Given the description of an element on the screen output the (x, y) to click on. 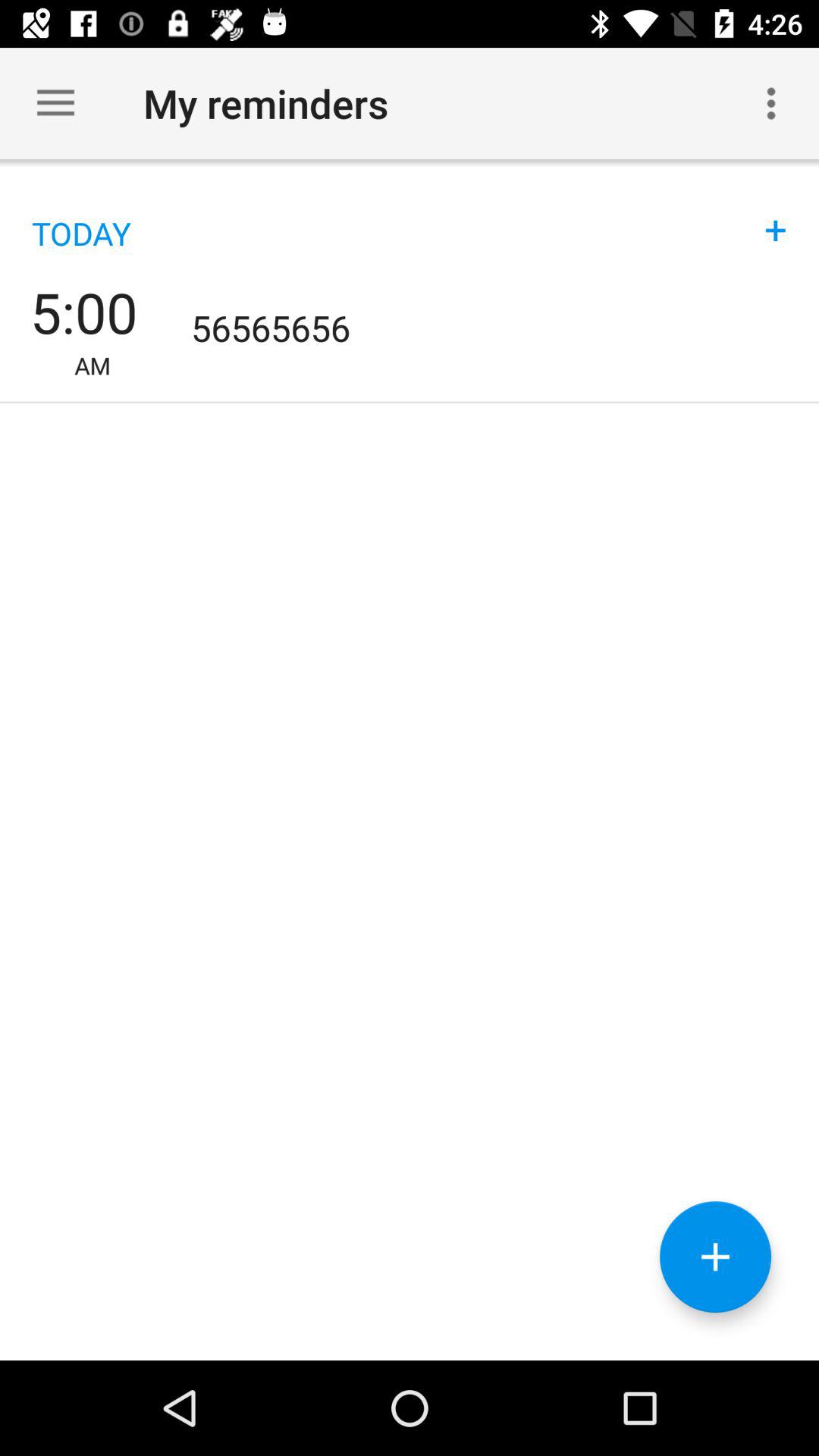
click the icon to the right of my reminders item (771, 103)
